Given the description of an element on the screen output the (x, y) to click on. 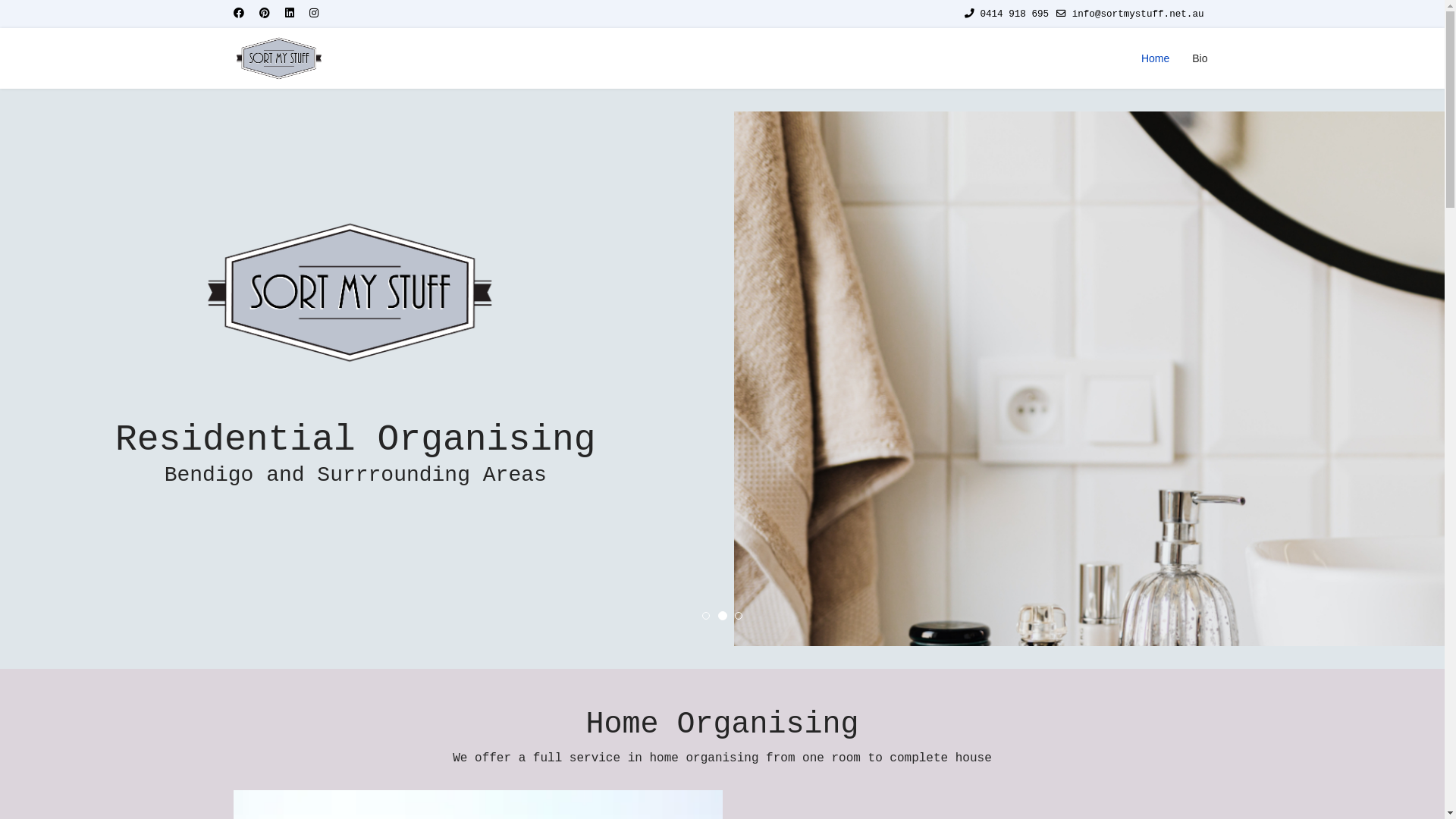
0414 918 695 Element type: text (1013, 14)
info@sortmystuff.net.au Element type: text (1138, 14)
Home Element type: text (1154, 58)
Bio Element type: text (1193, 58)
